Given the description of an element on the screen output the (x, y) to click on. 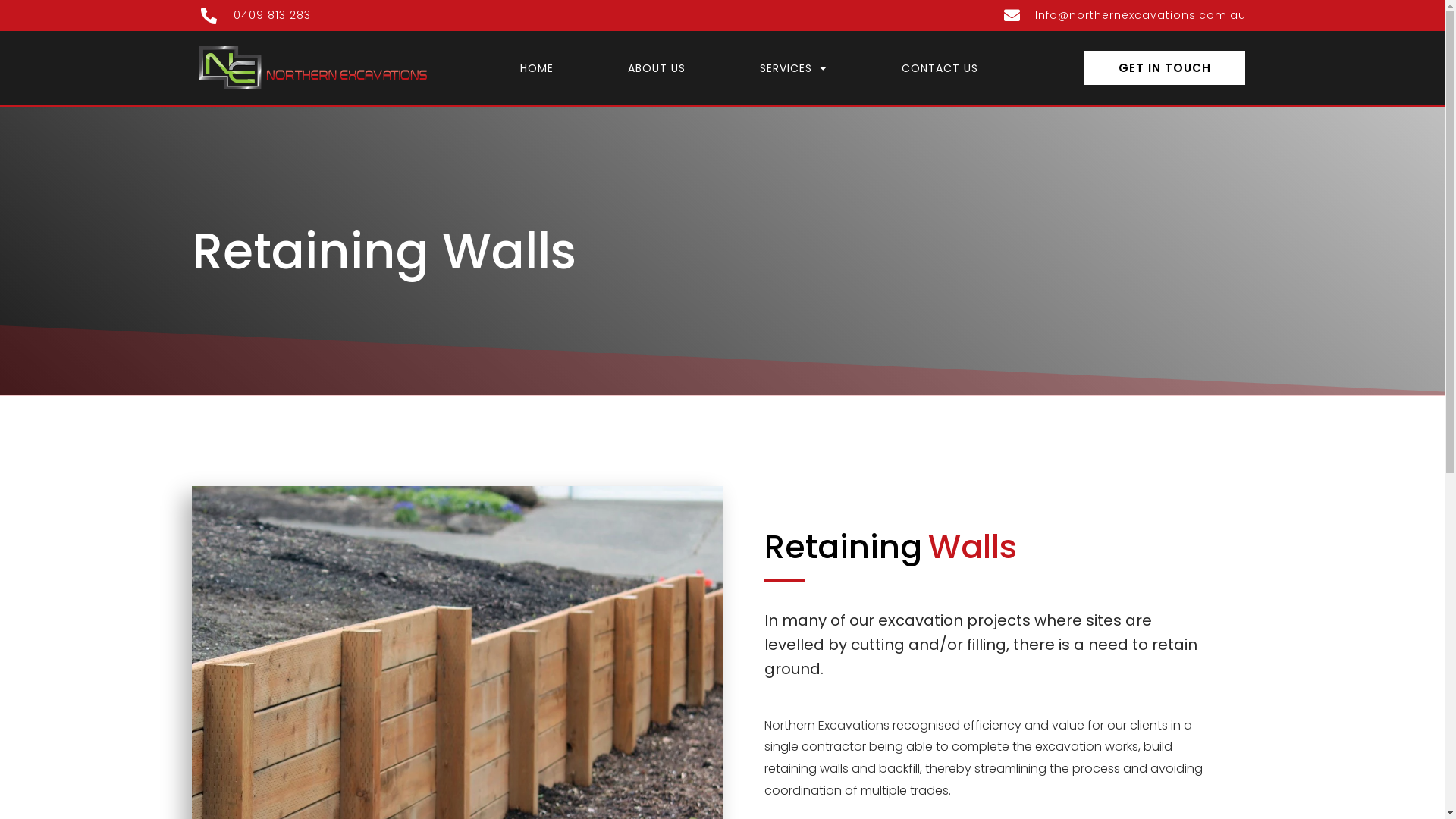
ABOUT US Element type: text (656, 67)
0409 813 283 Element type: text (456, 15)
Info@northernexcavations.com.au Element type: text (987, 15)
Northern Excavations Element type: text (826, 725)
HOME Element type: text (536, 67)
CONTACT US Element type: text (938, 67)
GET IN TOUCH Element type: text (1164, 67)
SERVICES Element type: text (793, 67)
